Given the description of an element on the screen output the (x, y) to click on. 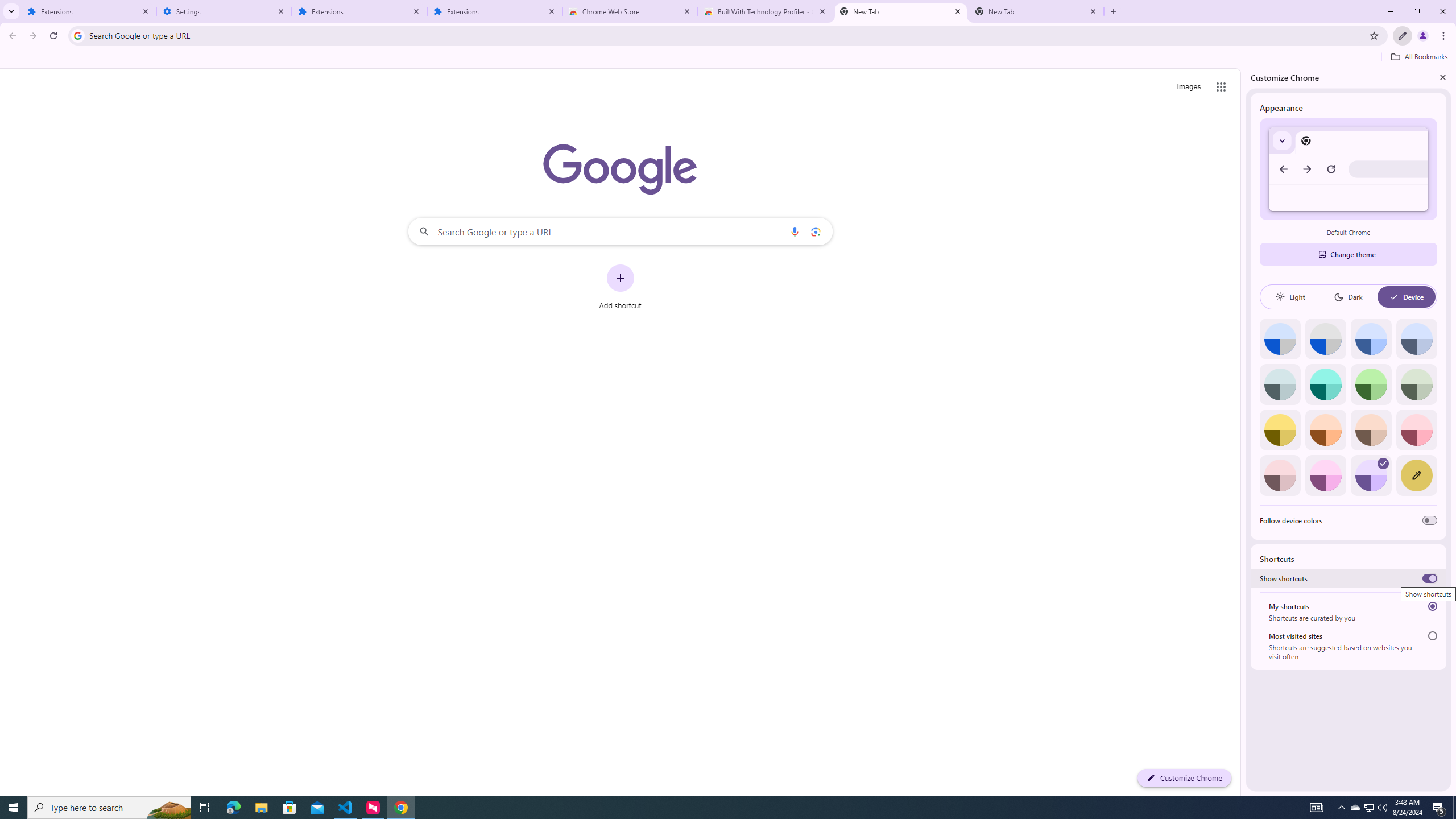
New Tab (1036, 11)
